Given the description of an element on the screen output the (x, y) to click on. 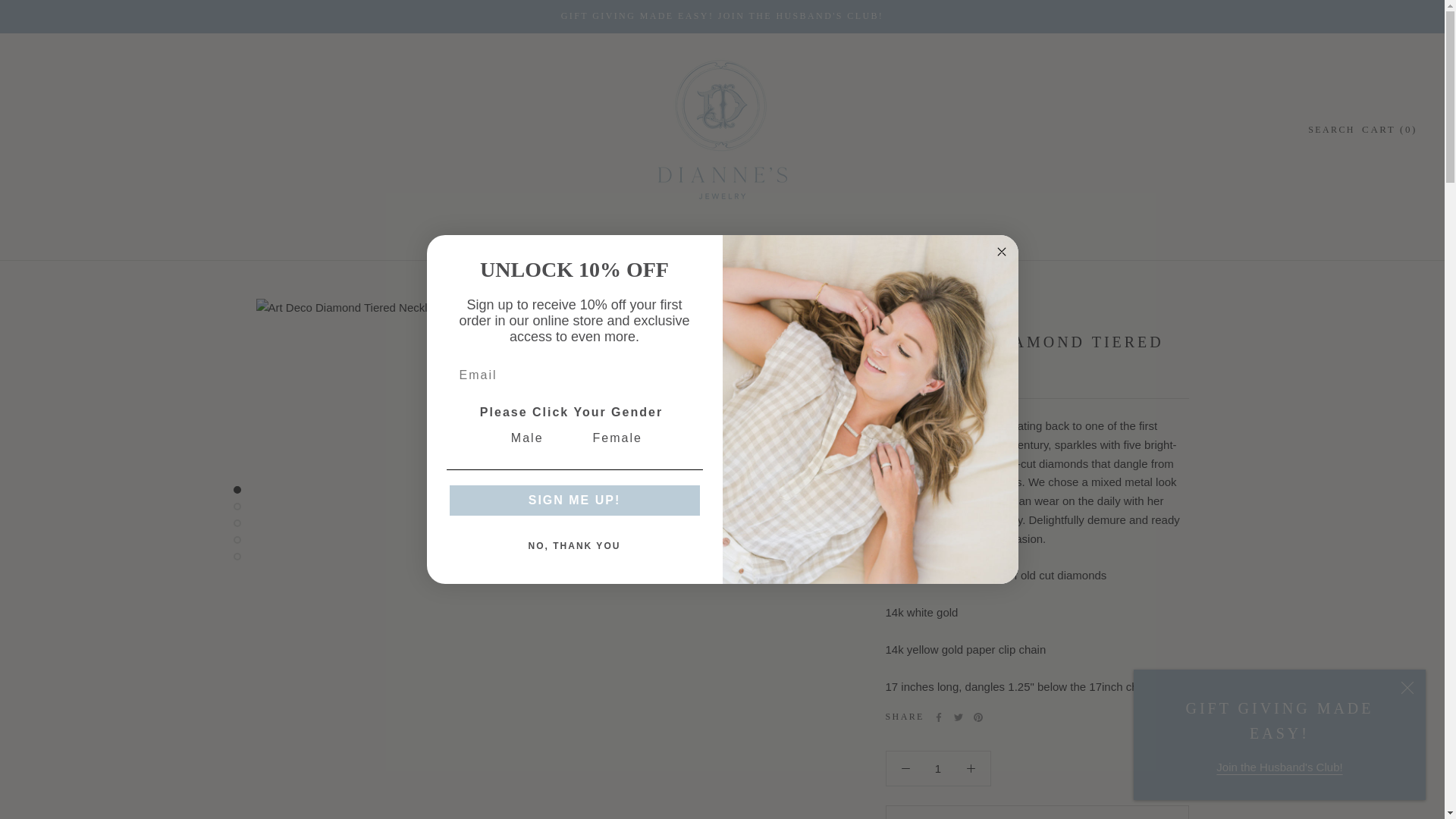
SHOP (456, 237)
Husbands Club (1278, 766)
GIFT GIVING MADE EASY! JOIN THE HUSBAND'S CLUB! (571, 237)
SEARCH (721, 15)
1 (823, 237)
Join the Husband's Club! (974, 237)
